Given the description of an element on the screen output the (x, y) to click on. 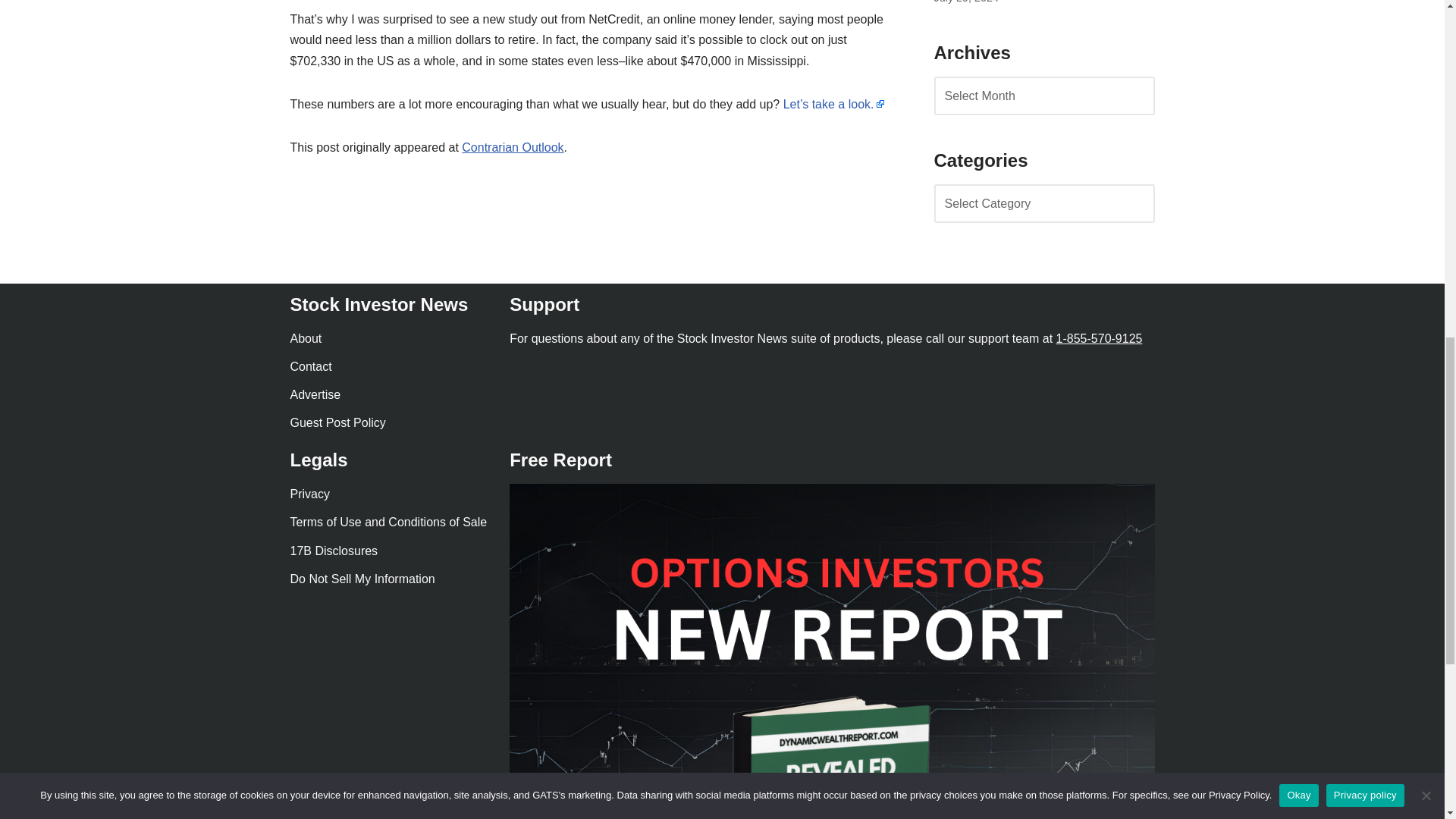
About (305, 338)
Do Not Sell My Information (361, 578)
1-855-570-9125 (1099, 338)
Contact (310, 366)
Guest Post Policy (337, 422)
Advertise (314, 394)
Terms of Use and Conditions of Sale (387, 521)
17B Disclosures (333, 550)
Privacy (309, 493)
Contrarian Outlook (512, 146)
